Given the description of an element on the screen output the (x, y) to click on. 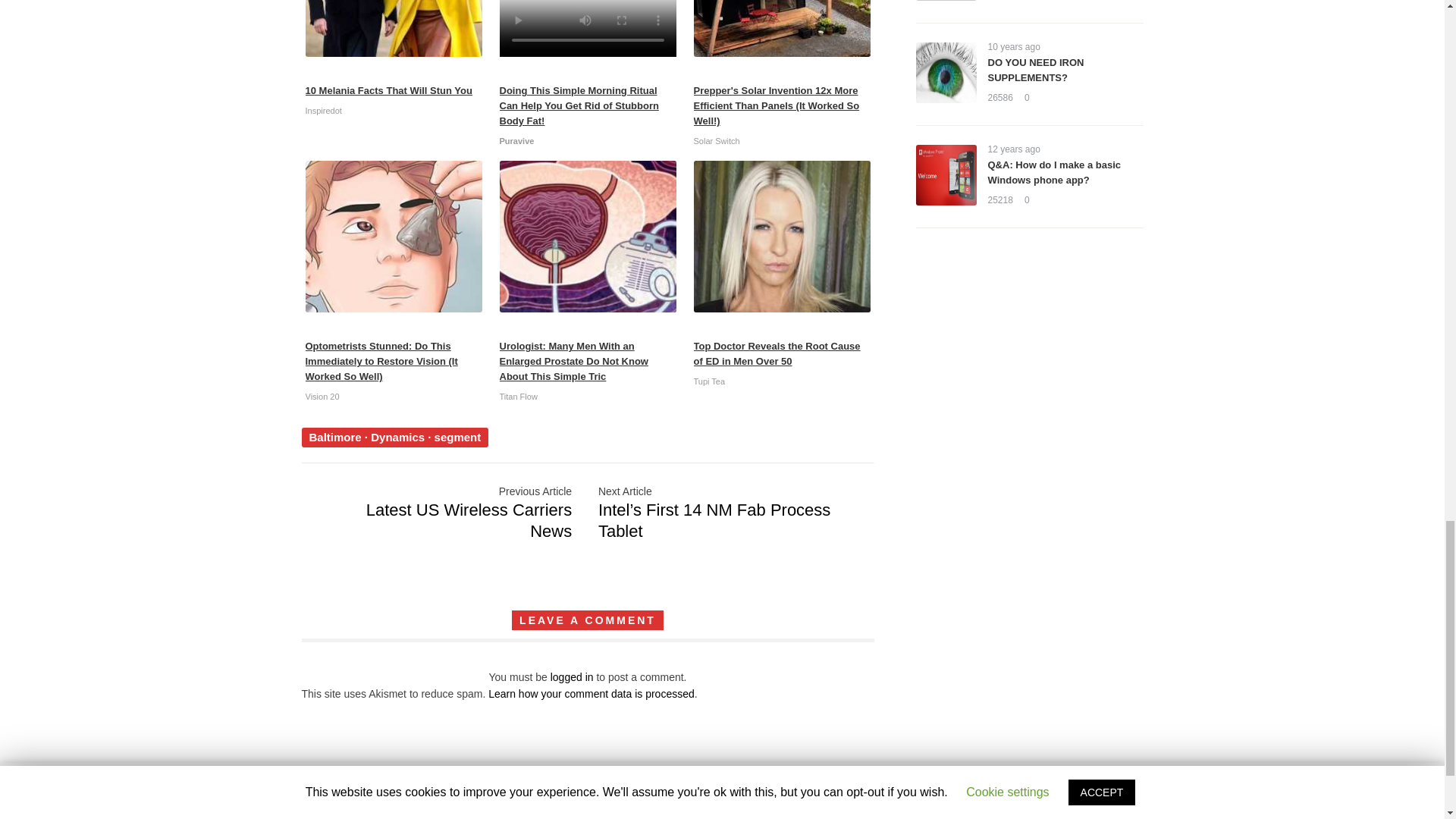
Dynamics (398, 436)
Baltimore (334, 436)
